Given the description of an element on the screen output the (x, y) to click on. 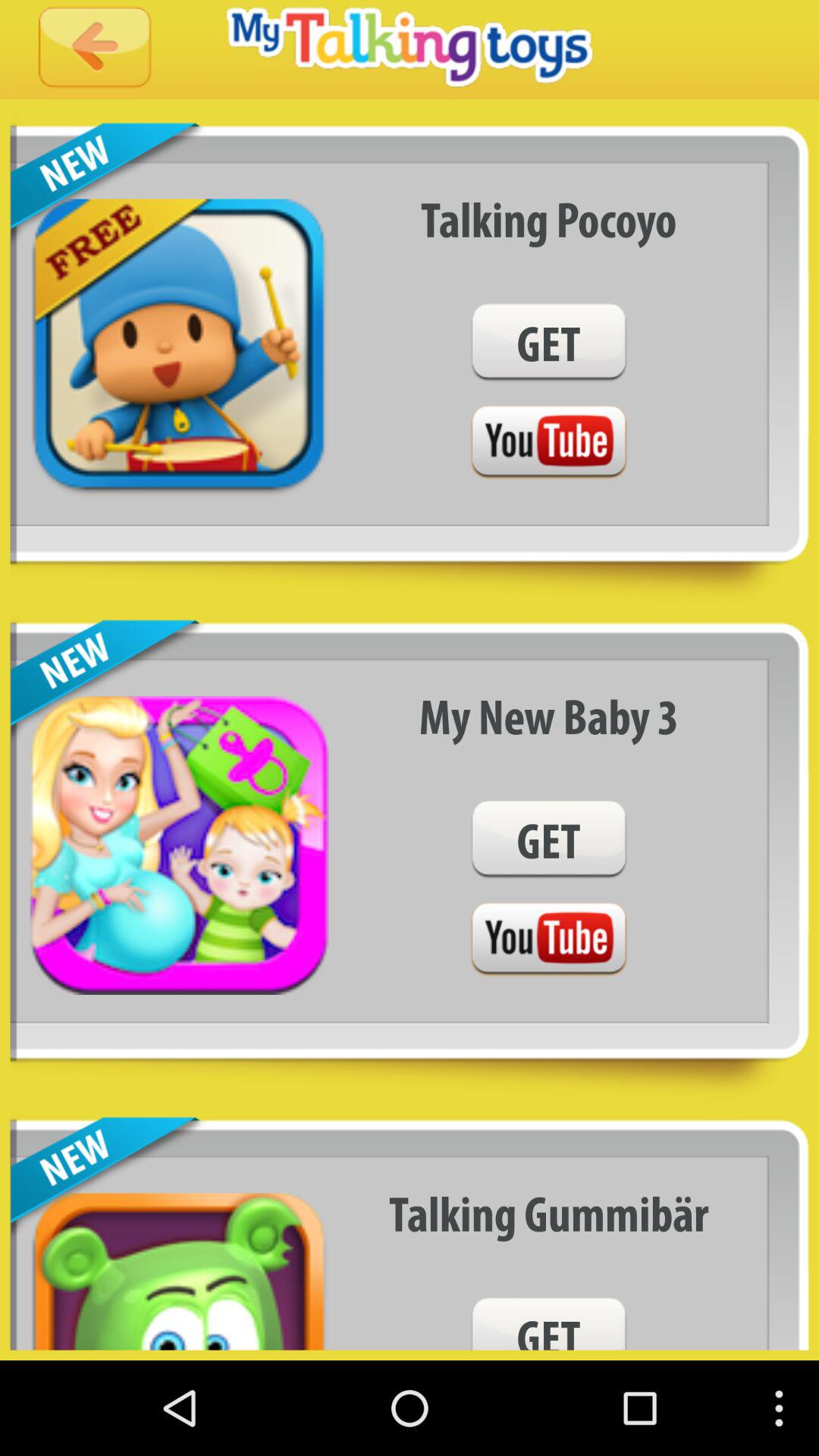
scroll until the talking pocoyo (548, 218)
